Given the description of an element on the screen output the (x, y) to click on. 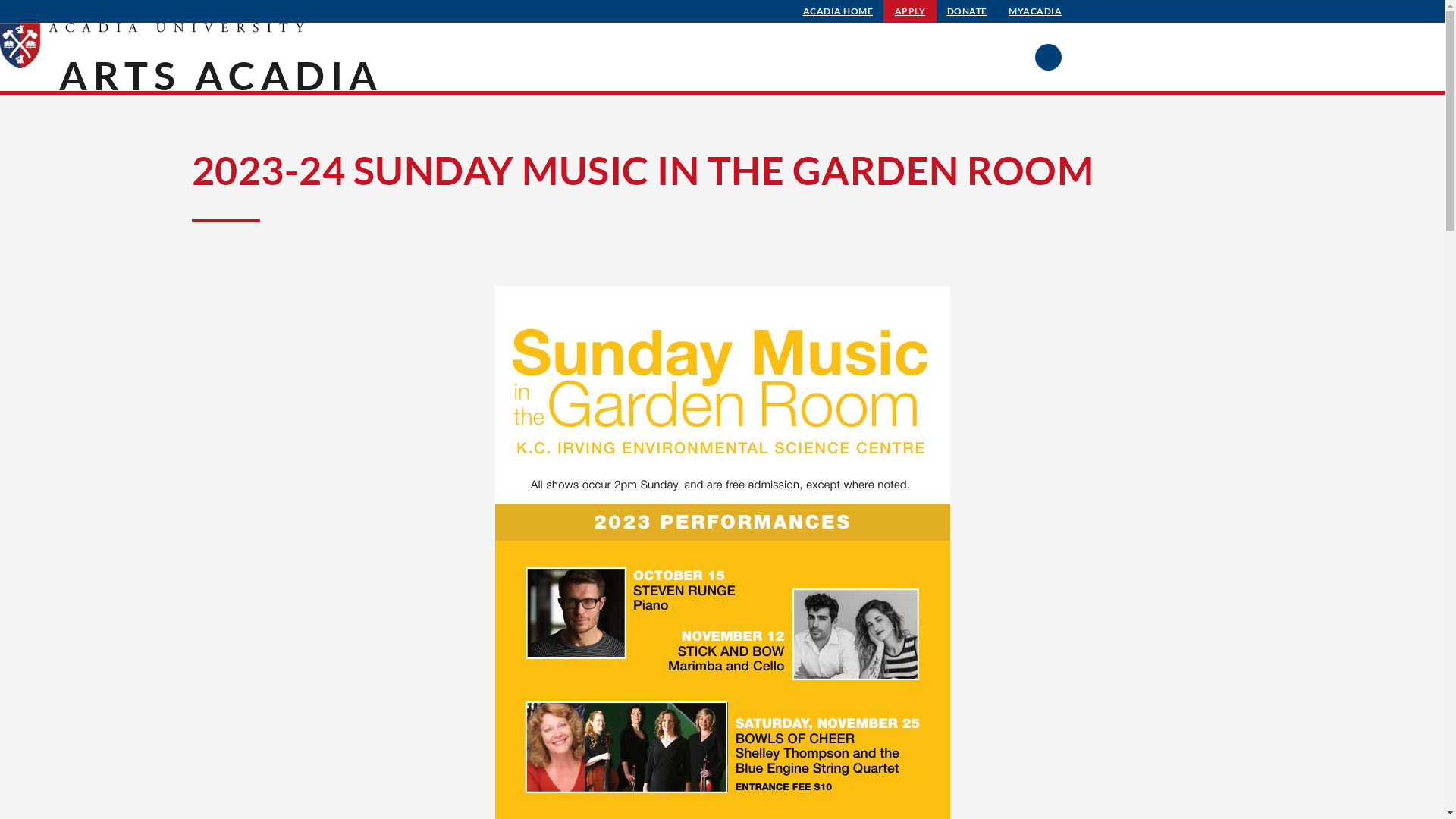
ARTS ACADIA Element type: text (220, 74)
MYACADIA Element type: text (1035, 11)
APPLY Element type: text (909, 11)
DONATE Element type: text (966, 11)
ACADIA HOME Element type: text (837, 11)
